Given the description of an element on the screen output the (x, y) to click on. 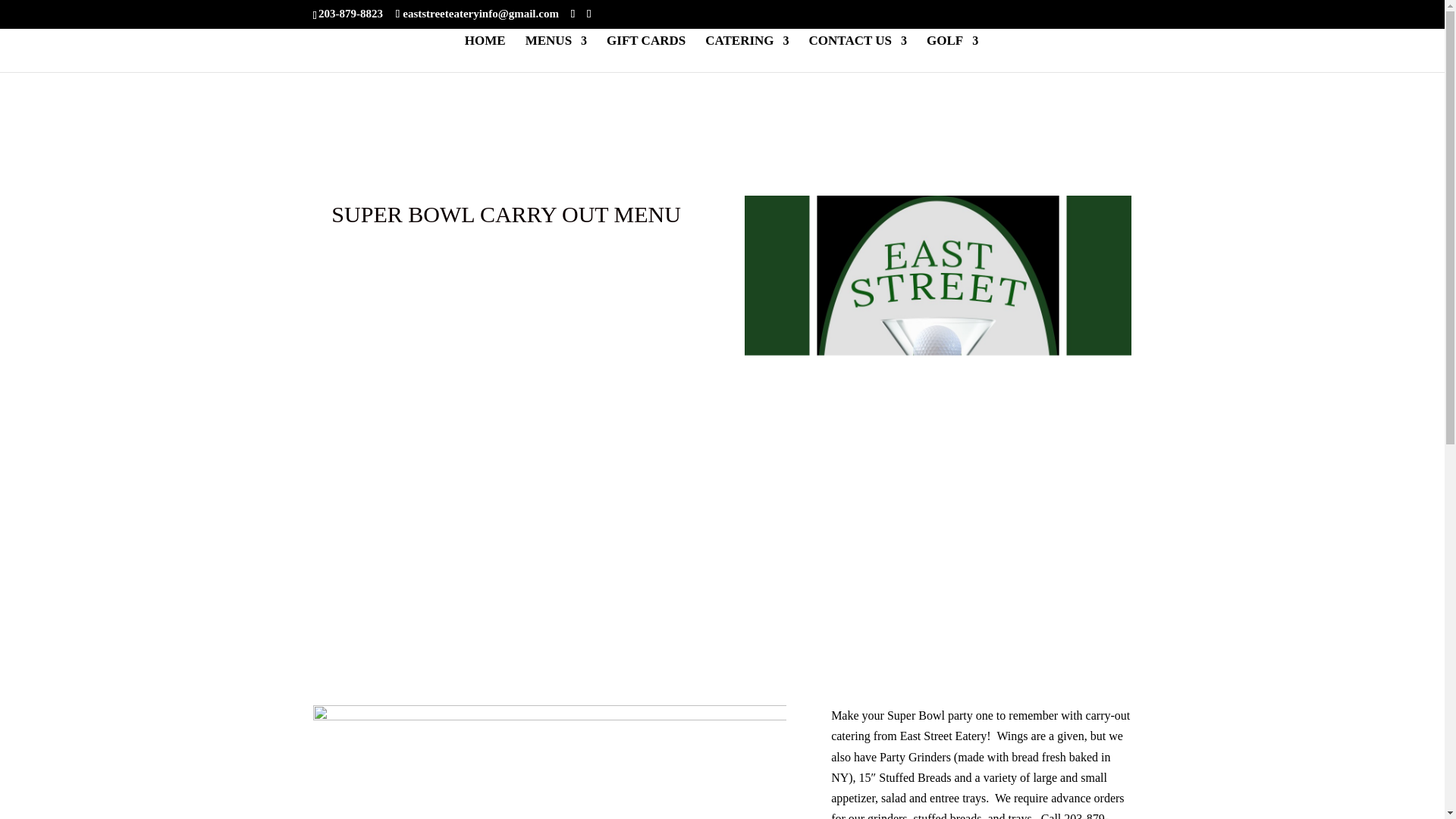
CONTACT US (858, 54)
MENUS (555, 54)
GIFT CARDS (646, 54)
GOLF (952, 54)
CATERING (746, 54)
HOME (484, 54)
